Given the description of an element on the screen output the (x, y) to click on. 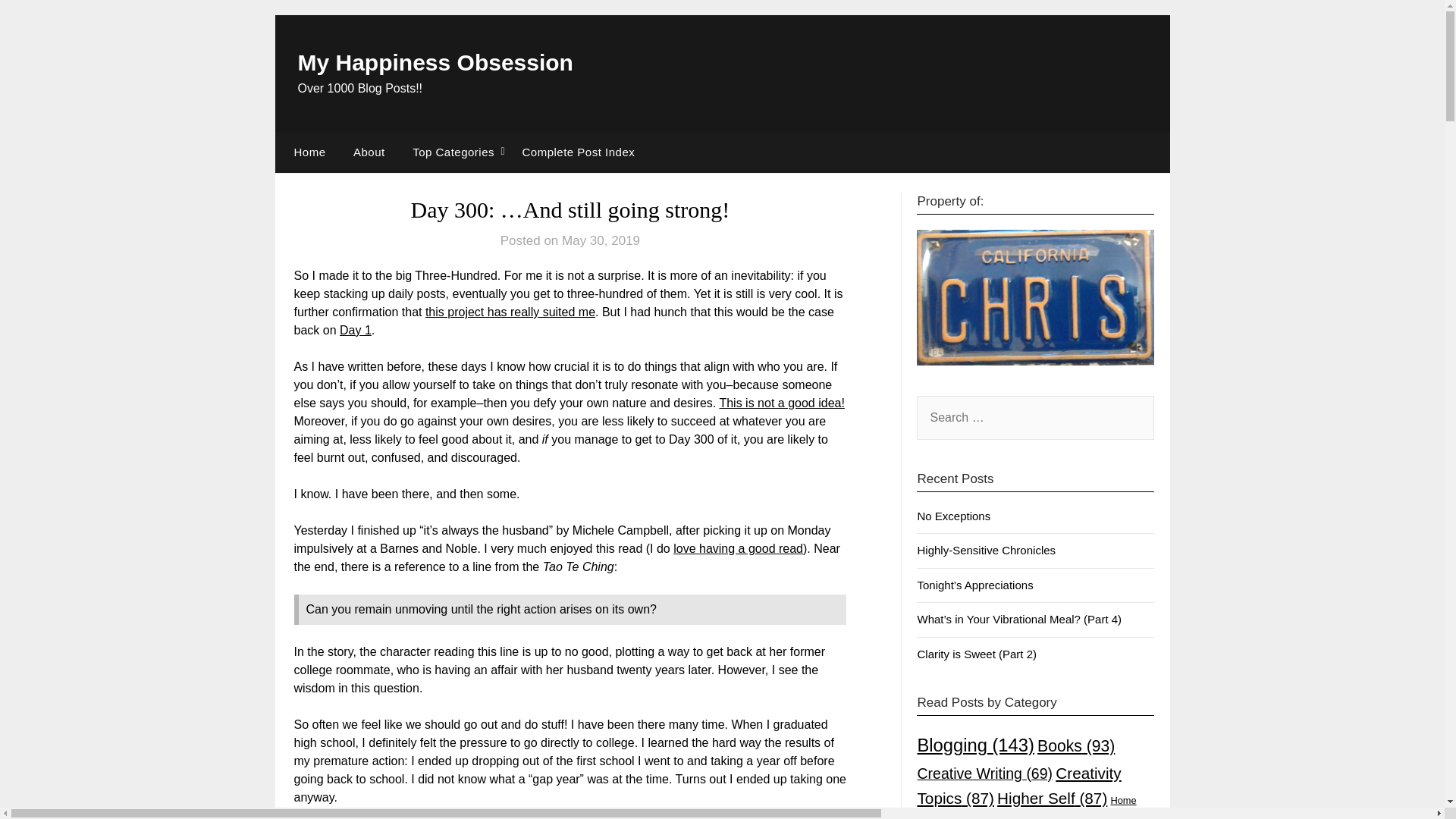
Complete Post Index (577, 151)
Top Categories (453, 151)
No Exceptions (953, 515)
About (368, 151)
My Happiness Obsession (434, 62)
Day 1 (355, 329)
this project has really suited me (510, 311)
love having a good read (737, 548)
Home (306, 151)
Highly-Sensitive Chronicles (986, 549)
This is not a good idea! (781, 402)
Search (38, 22)
